Given the description of an element on the screen output the (x, y) to click on. 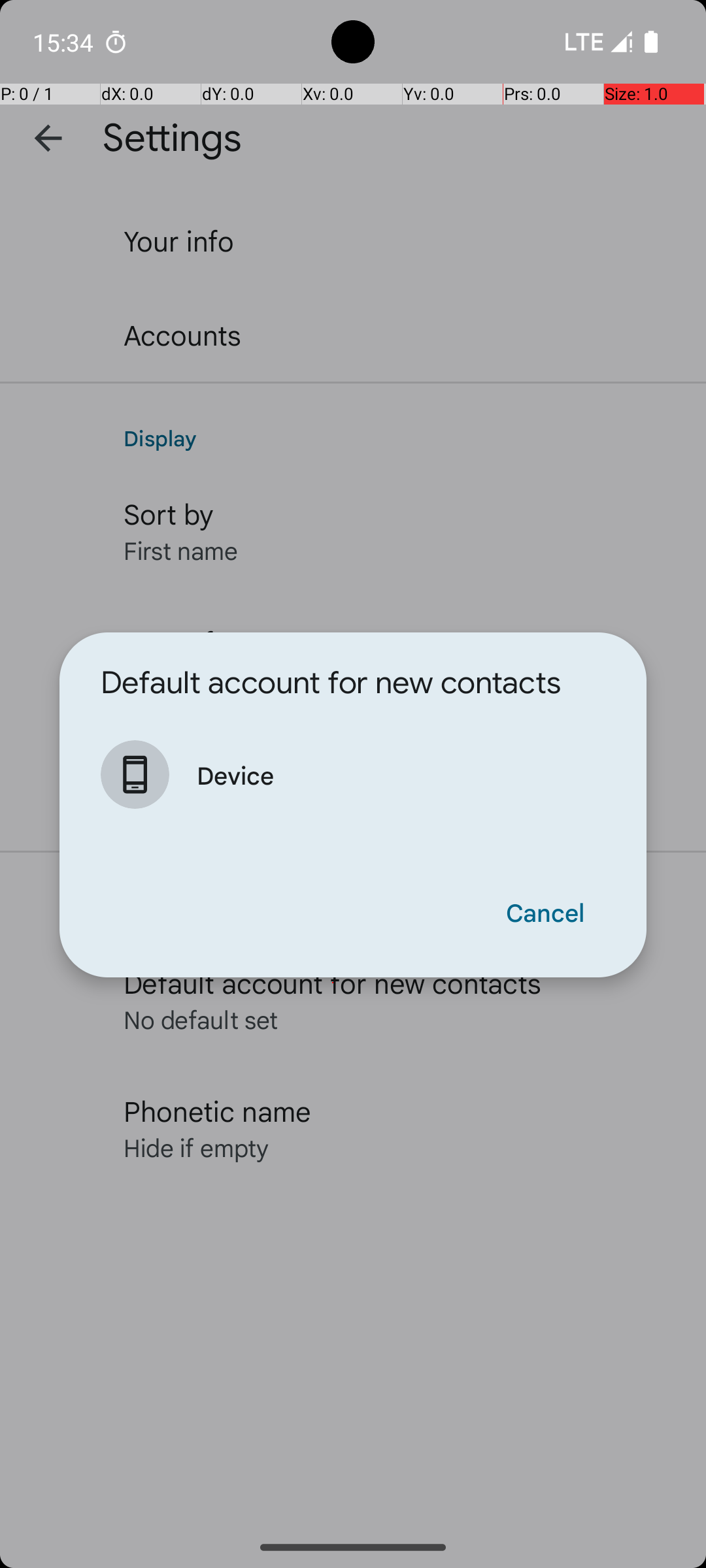
Default account for new contacts Element type: android.widget.TextView (330, 682)
